Given the description of an element on the screen output the (x, y) to click on. 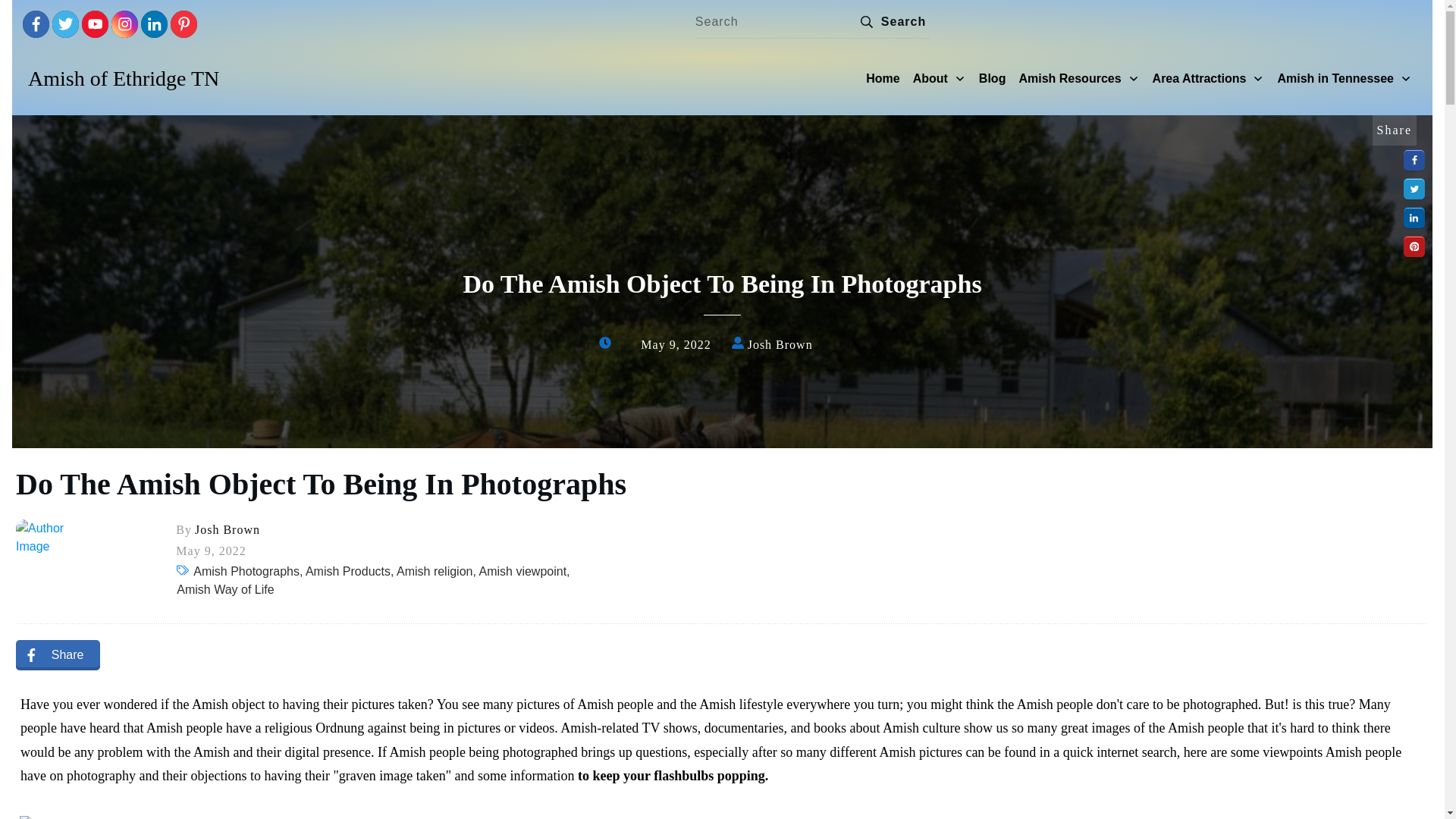
Search (890, 21)
Amish in Tennessee (1344, 78)
Do The Amish Object To Being In Photographs (321, 483)
Home (882, 78)
Blog (992, 78)
Amish Resources (1077, 78)
Area Attractions (1209, 78)
About (939, 78)
